Given the description of an element on the screen output the (x, y) to click on. 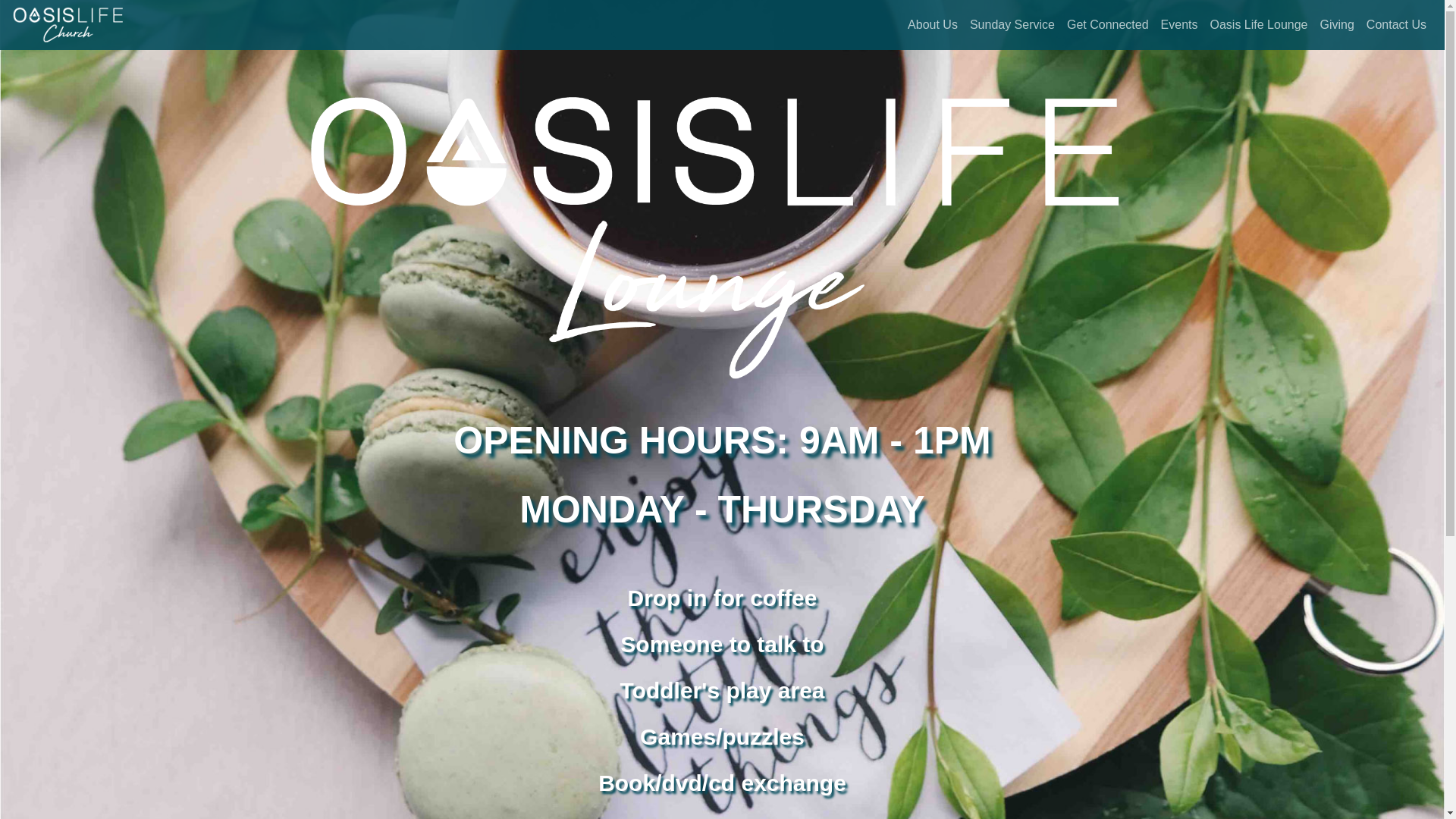
Get Connected Element type: text (1107, 24)
Events Element type: text (1179, 24)
About Us Element type: text (932, 24)
Giving Element type: text (1336, 24)
Oasis Life Lounge Element type: text (1259, 24)
Sunday Service Element type: text (1011, 24)
Contact Us Element type: text (1396, 24)
